Given the description of an element on the screen output the (x, y) to click on. 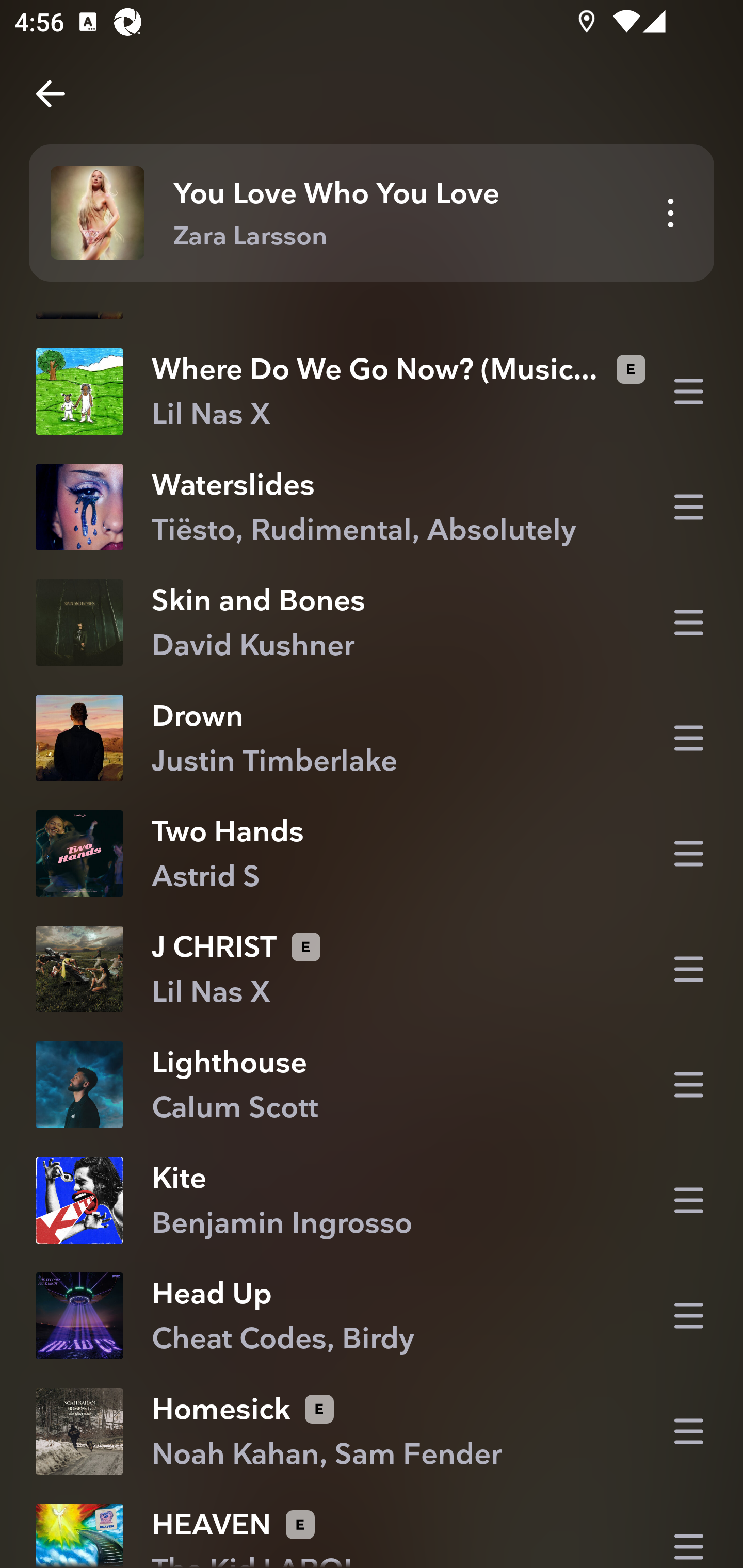
You Love Who You Love Zara Larsson (371, 213)
Waterslides Tiësto, Rudimental, Absolutely (371, 507)
Skin and Bones David Kushner (371, 622)
Drown Justin Timberlake (371, 738)
Two Hands Astrid S (371, 853)
J CHRIST Lil Nas X (371, 969)
Lighthouse Calum Scott (371, 1085)
Kite Benjamin Ingrosso (371, 1200)
Head Up Cheat Codes, Birdy (371, 1315)
Homesick Noah Kahan, Sam Fender (371, 1431)
HEAVEN The Kid LAROI (371, 1528)
